Given the description of an element on the screen output the (x, y) to click on. 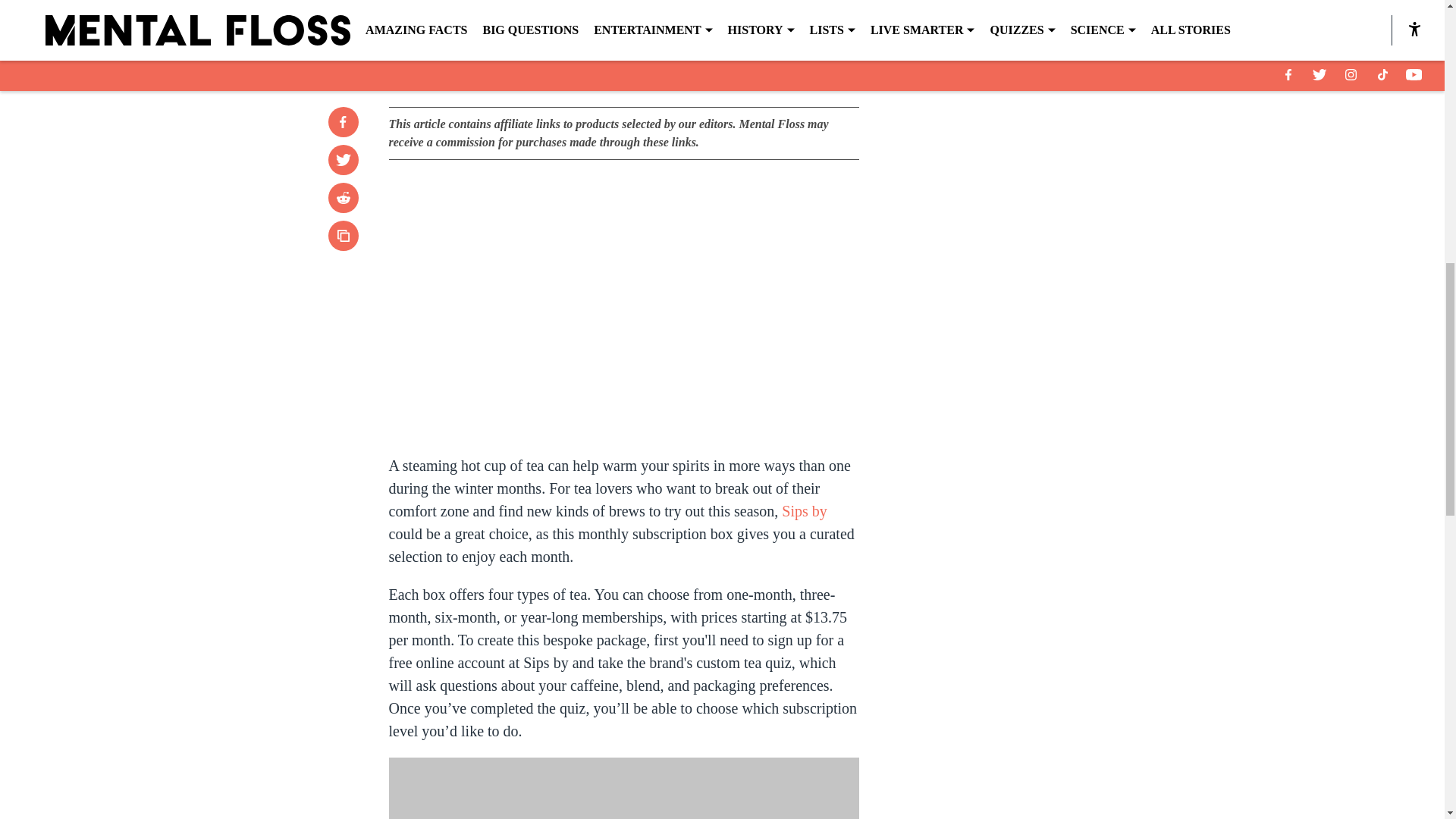
Sips by (721, 22)
